Given the description of an element on the screen output the (x, y) to click on. 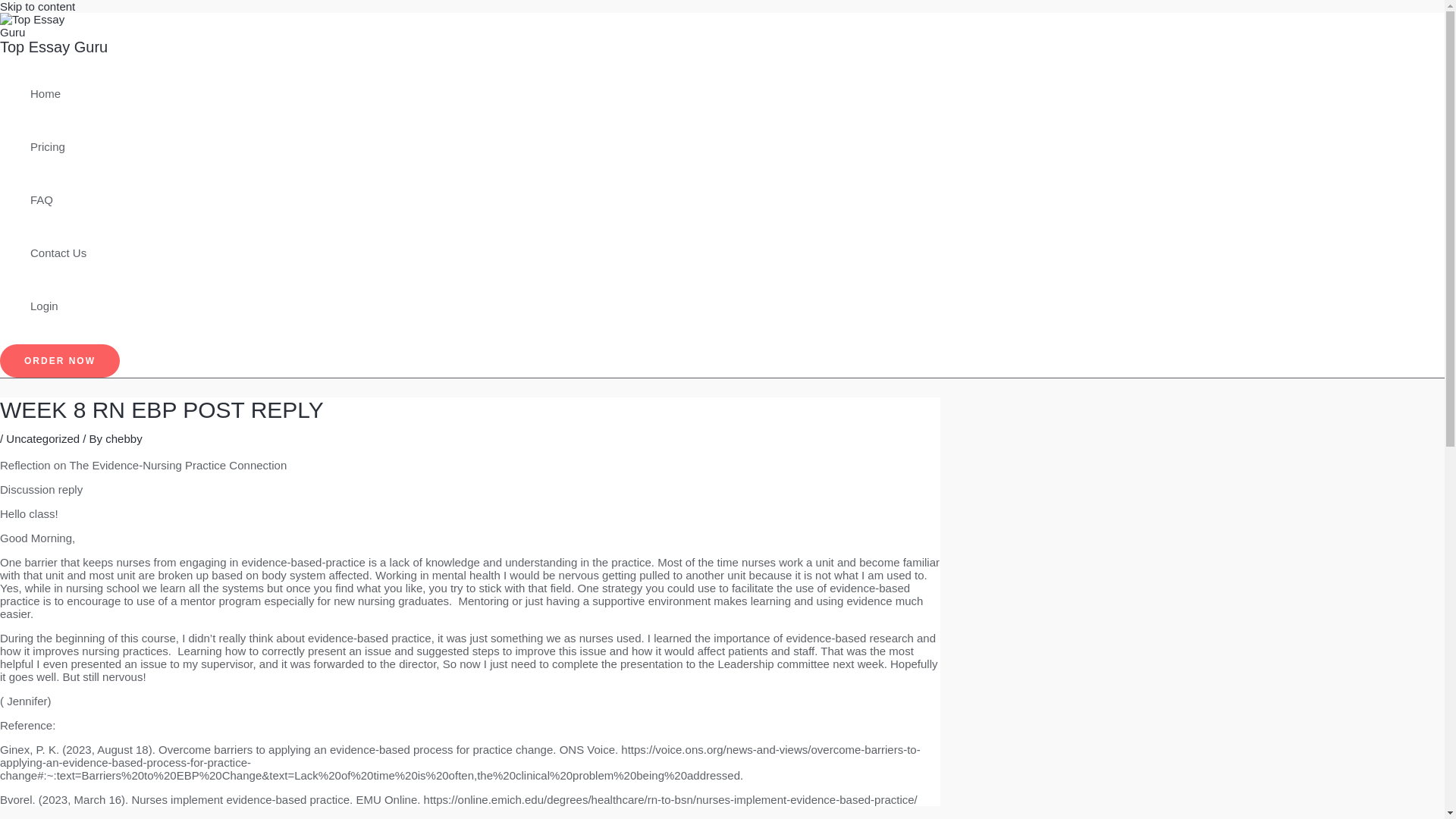
Home (57, 93)
FAQ (57, 199)
Skip to content (37, 6)
ORDER NOW (59, 360)
Pricing (57, 146)
chebby (122, 438)
Uncategorized (42, 438)
Login (57, 306)
Skip to content (37, 6)
Contact Us (57, 253)
Top Essay Guru (53, 46)
View all posts by chebby (122, 438)
